Given the description of an element on the screen output the (x, y) to click on. 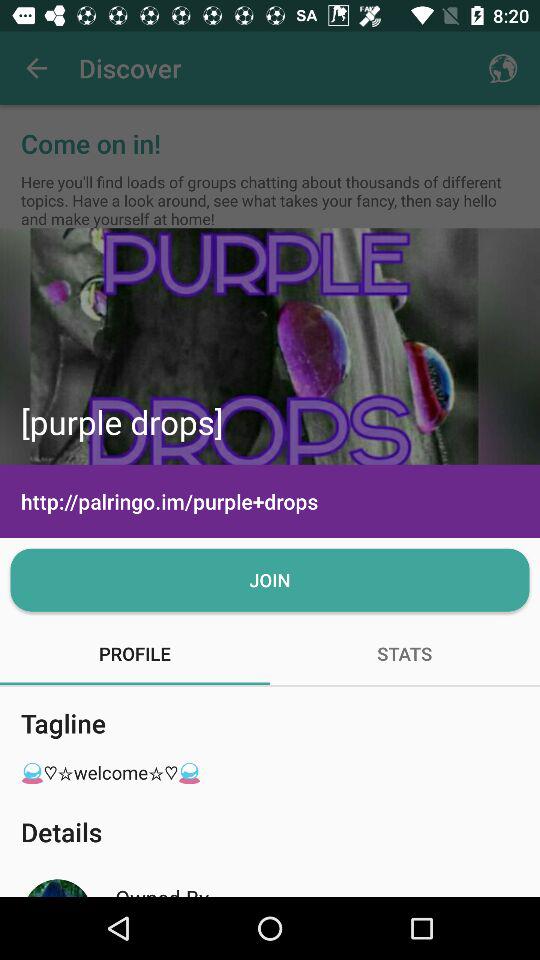
tap icon above the http palringo im icon (270, 346)
